Given the description of an element on the screen output the (x, y) to click on. 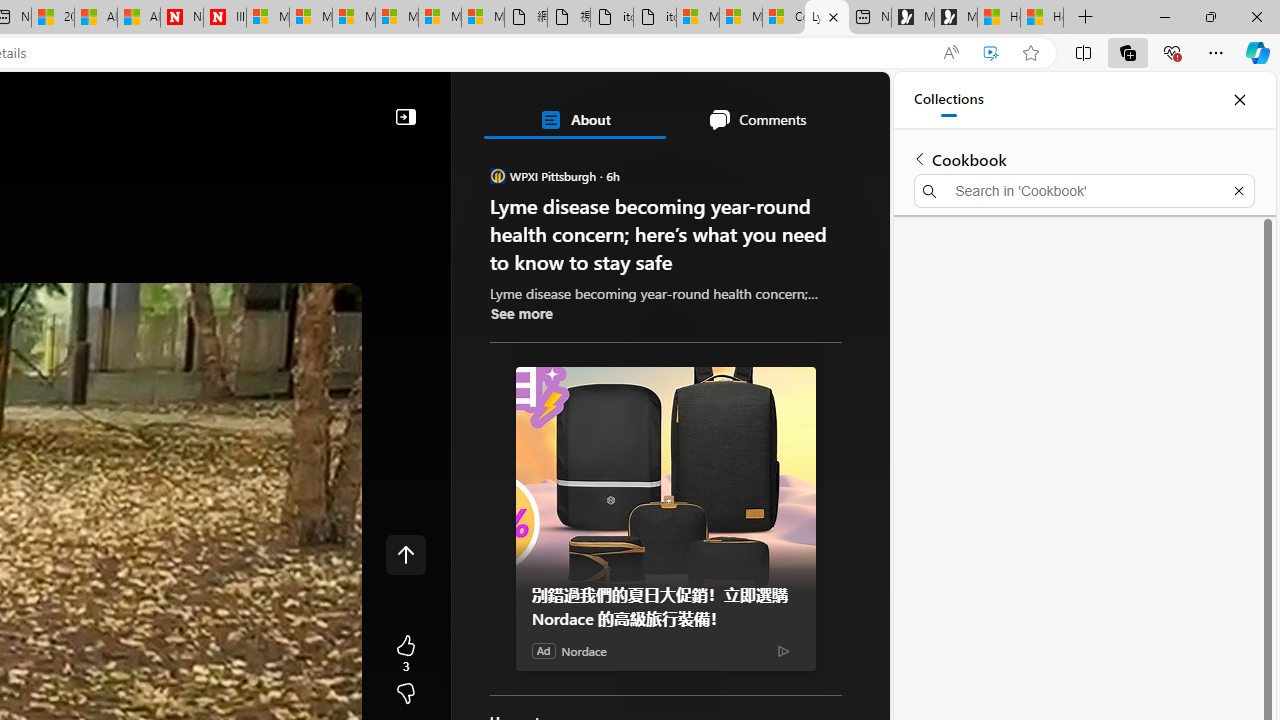
3 Like (406, 653)
Comments (756, 119)
WPXI Pittsburgh (497, 175)
How to Use a TV as a Computer Monitor (1042, 17)
